Given the description of an element on the screen output the (x, y) to click on. 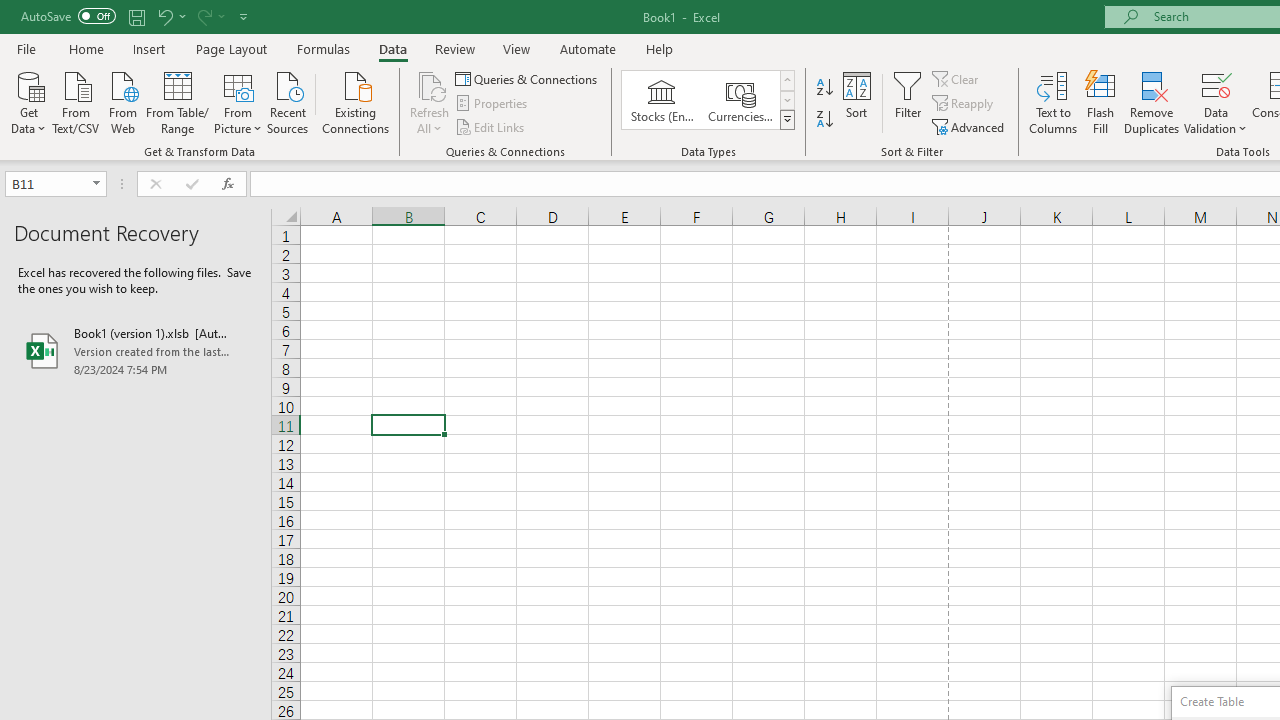
From Text/CSV (75, 101)
AutoSave (68, 16)
View (517, 48)
Clear (957, 78)
From Web (122, 101)
Get Data (28, 101)
Help (660, 48)
Class: NetUIImage (787, 119)
Filter (908, 102)
Currencies (English) (740, 100)
Stocks (English) (662, 100)
Data Validation... (1215, 102)
